Given the description of an element on the screen output the (x, y) to click on. 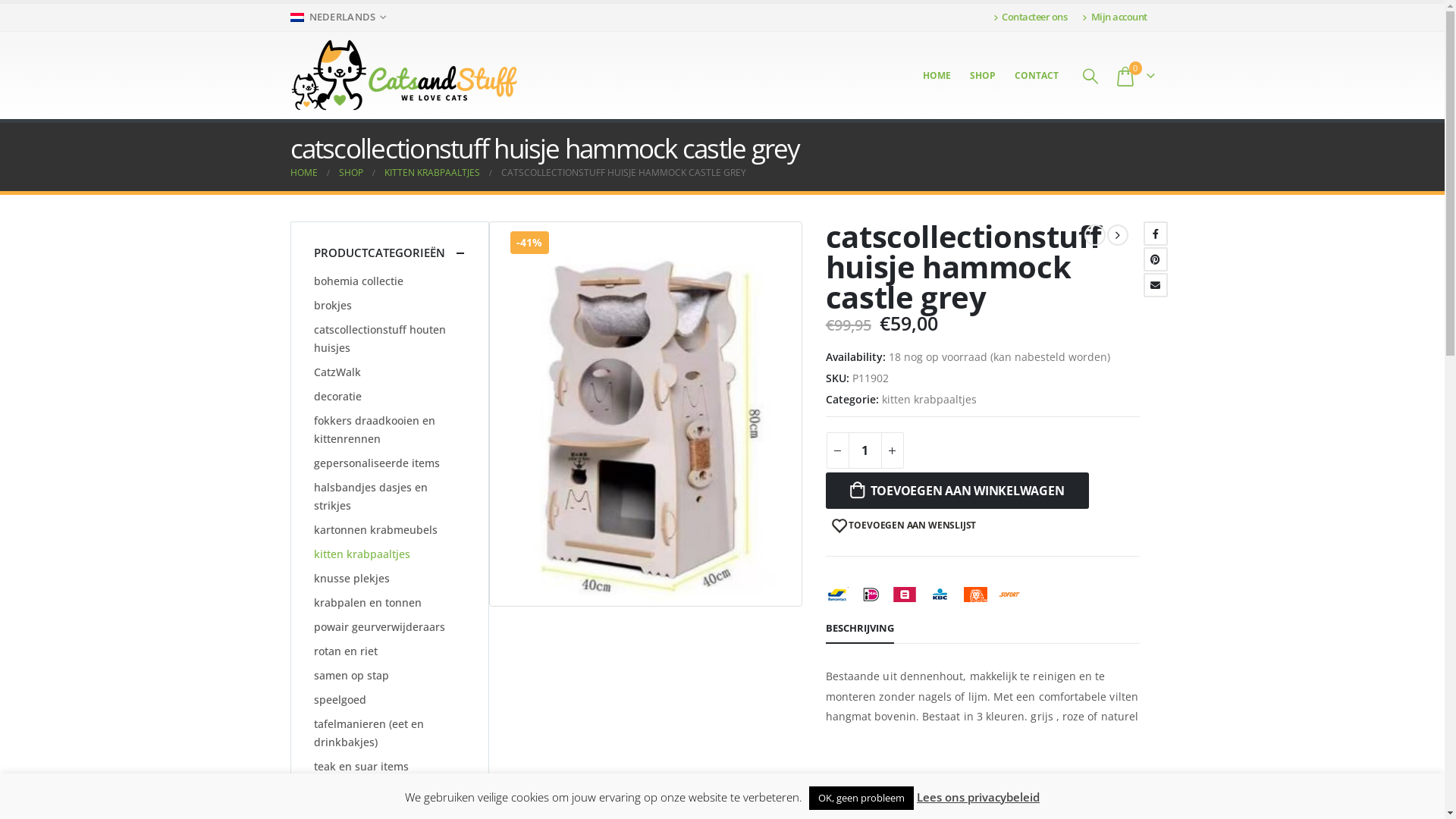
halsbandjes dasjes en strikjes Element type: text (389, 496)
Cats and Stuff - We love cats Element type: hover (403, 75)
teak en suar items Element type: text (360, 766)
brokjes Element type: text (332, 305)
Facebook Element type: text (1155, 233)
kitten krabpaaltjes Element type: text (928, 399)
SHOP Element type: text (982, 75)
Lees ons privacybeleid Element type: text (977, 796)
tafelmanieren (eet en drinkbakjes) Element type: text (389, 733)
toiletbezoekjes Element type: text (351, 790)
bohemia collectie Element type: text (358, 281)
knusse plekjes Element type: text (351, 578)
rotan en riet Element type: text (345, 651)
decoratie Element type: text (337, 396)
OK, geen probleem Element type: text (861, 797)
+ Element type: text (892, 450)
SHOP Element type: text (350, 172)
gepersonaliseerde items Element type: text (376, 463)
Mijn account Element type: text (1114, 17)
Pinterest Element type: text (1155, 259)
catscollectionstuff huisje hammock castle grey Element type: hover (645, 413)
HOME Element type: text (936, 75)
TOEVOEGEN AAN WINKELWAGEN Element type: text (956, 490)
KITTEN KRABPAALTJES Element type: text (431, 172)
fokkers draadkooien en kittenrennen Element type: text (389, 429)
Email Element type: text (1155, 285)
kartonnen krabmeubels Element type: text (375, 529)
samen op stap Element type: text (351, 675)
powair geurverwijderaars Element type: text (379, 627)
CONTACT Element type: text (1036, 75)
krabpalen en tonnen Element type: text (367, 602)
NEDERLANDS Element type: text (339, 17)
HOME Element type: text (302, 172)
Contacteer ons Element type: text (1034, 17)
TOEVOEGEN AAN WENSLIJST Element type: text (903, 525)
catscollectionstuff houten huisjes Element type: text (389, 338)
CatzWalk Element type: text (336, 372)
speelgoed Element type: text (339, 699)
- Element type: text (837, 450)
kitten krabpaaltjes Element type: text (361, 554)
